Given the description of an element on the screen output the (x, y) to click on. 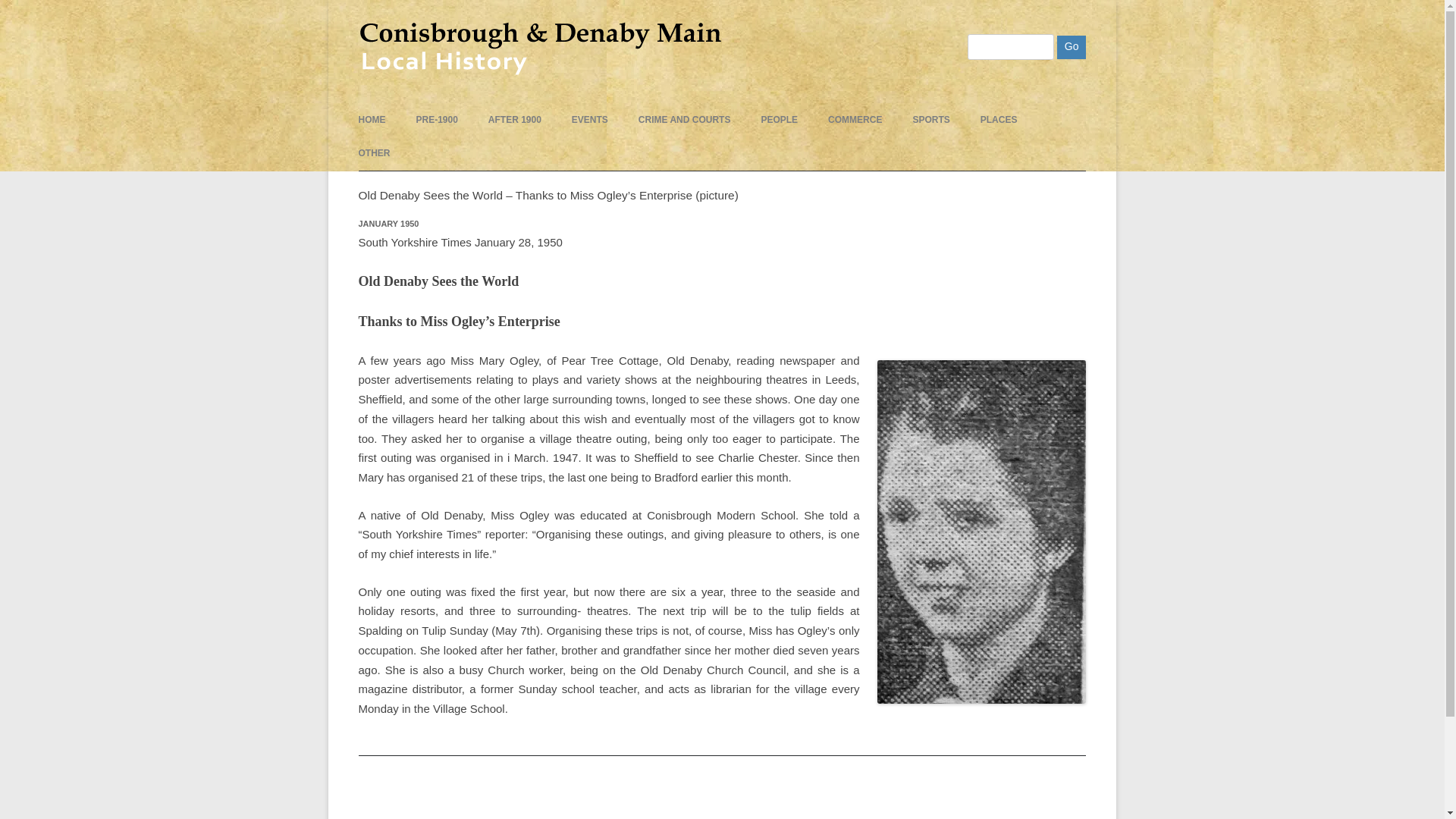
PRE-1900 (435, 119)
OTHER (374, 152)
PLACES (998, 119)
Go (1071, 46)
PEOPLE (778, 119)
SPORTS (930, 119)
AFTER 1900 (514, 119)
Go (1071, 46)
CRIME AND COURTS (684, 119)
